Given the description of an element on the screen output the (x, y) to click on. 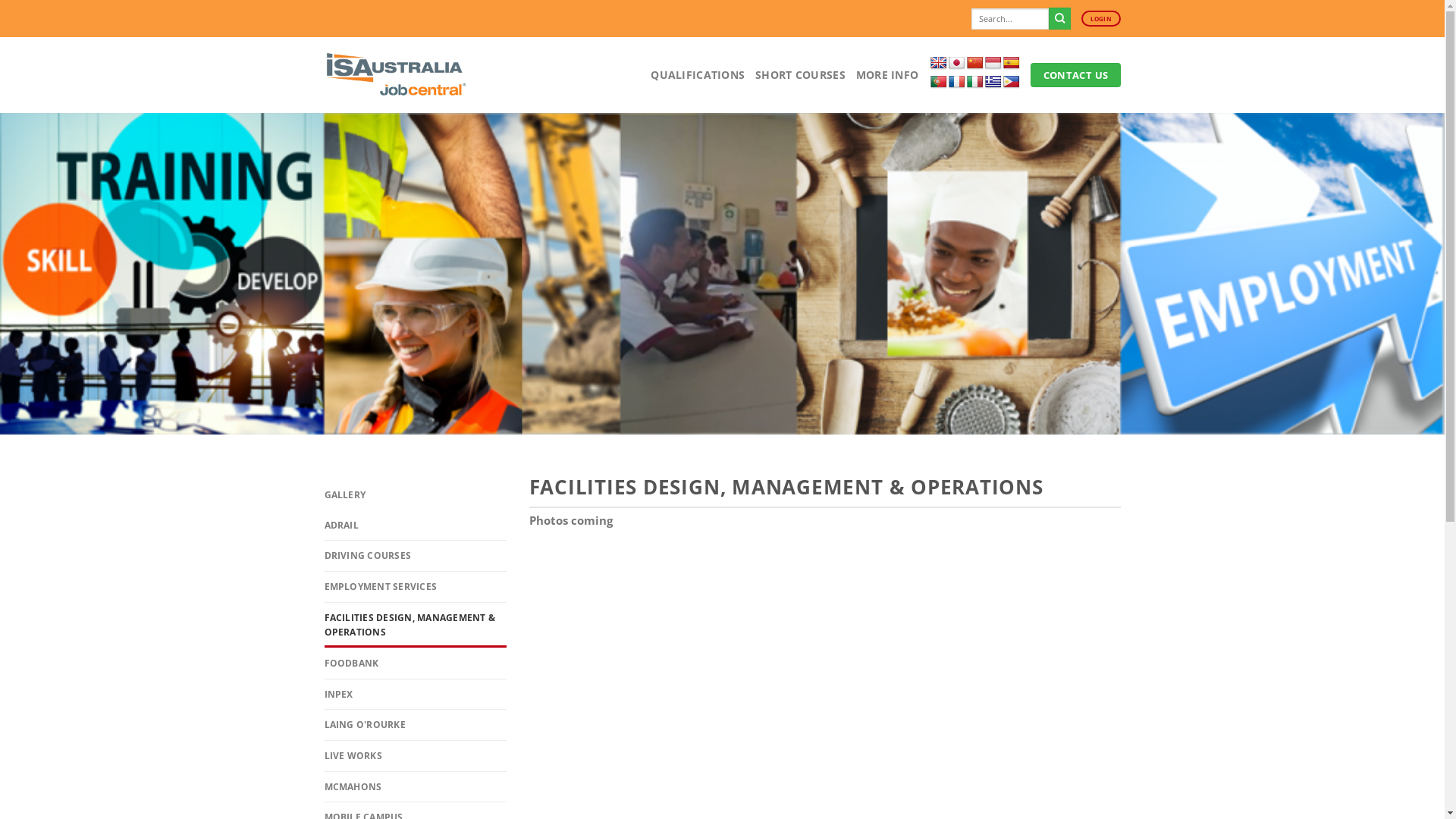
ADRAIL Element type: text (415, 525)
Chinese (Simplified) Element type: hover (974, 63)
QUALIFICATIONS Element type: text (697, 75)
Italian Element type: hover (974, 82)
LIVE WORKS Element type: text (415, 755)
Portuguese Element type: hover (938, 86)
GALLERY Element type: text (415, 495)
Greek Element type: hover (993, 82)
CONTACT US Element type: text (1075, 74)
DRIVING COURSES Element type: text (415, 555)
FOODBANK Element type: text (415, 663)
Japanese Element type: hover (956, 63)
French Element type: hover (956, 82)
FACILITIES DESIGN, MANAGEMENT & OPERATIONS Element type: text (415, 624)
Filipino Element type: hover (1011, 82)
SHORT COURSES Element type: text (800, 75)
Spanish Element type: hover (1011, 63)
INPEX Element type: text (415, 694)
EMPLOYMENT SERVICES Element type: text (415, 586)
Indonesian Element type: hover (993, 63)
English Element type: hover (938, 63)
LAING O'ROURKE Element type: text (415, 724)
MCMAHONS Element type: text (415, 786)
LOGIN Element type: text (1100, 18)
MORE INFO Element type: text (887, 75)
